Given the description of an element on the screen output the (x, y) to click on. 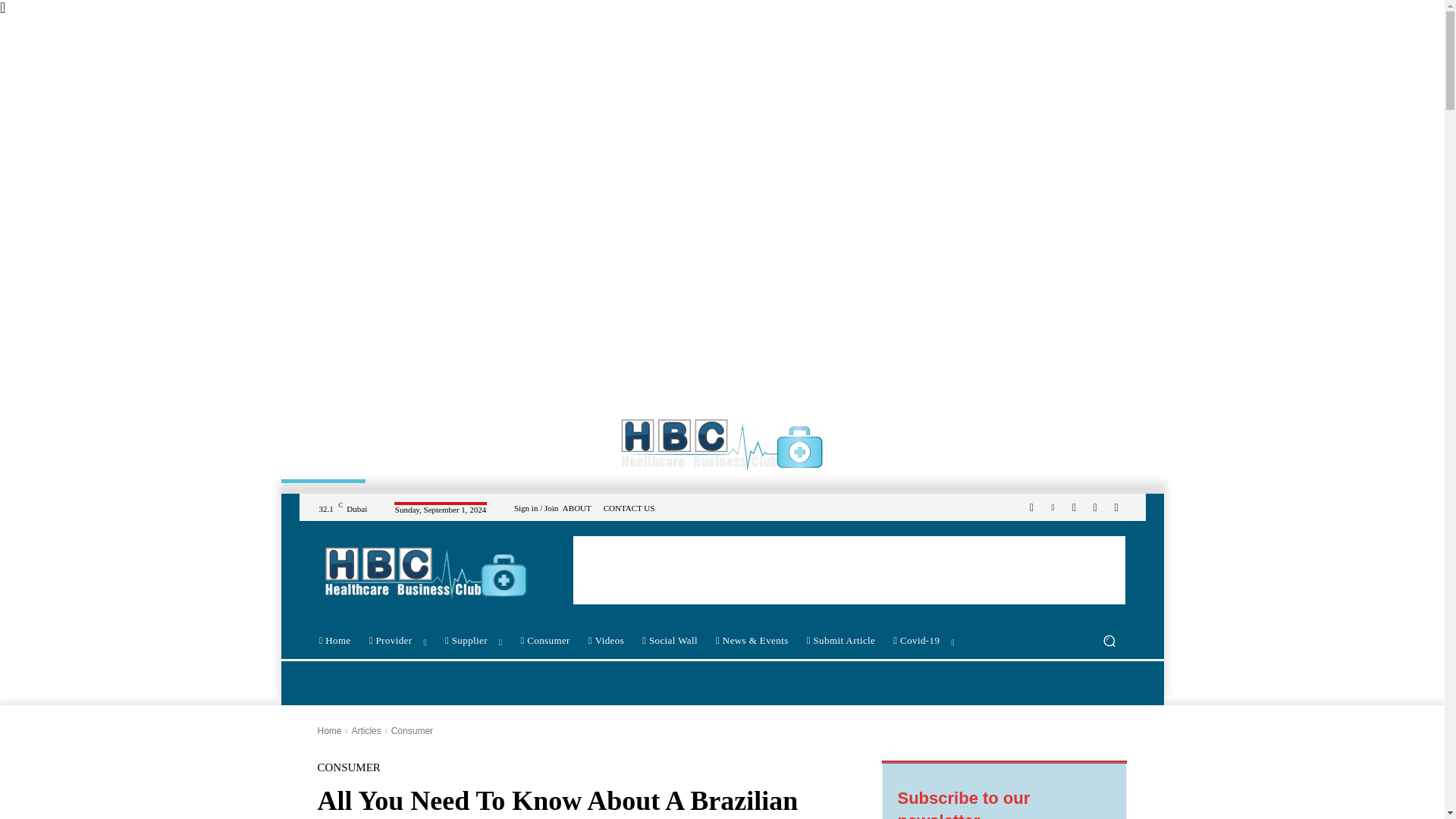
Provider (397, 640)
Facebook (1031, 506)
Supplier (473, 640)
RSS (1073, 506)
Linkedin (1052, 506)
ABOUT (576, 508)
CONTACT US (629, 508)
Home (333, 640)
Twitter (1094, 506)
